Given the description of an element on the screen output the (x, y) to click on. 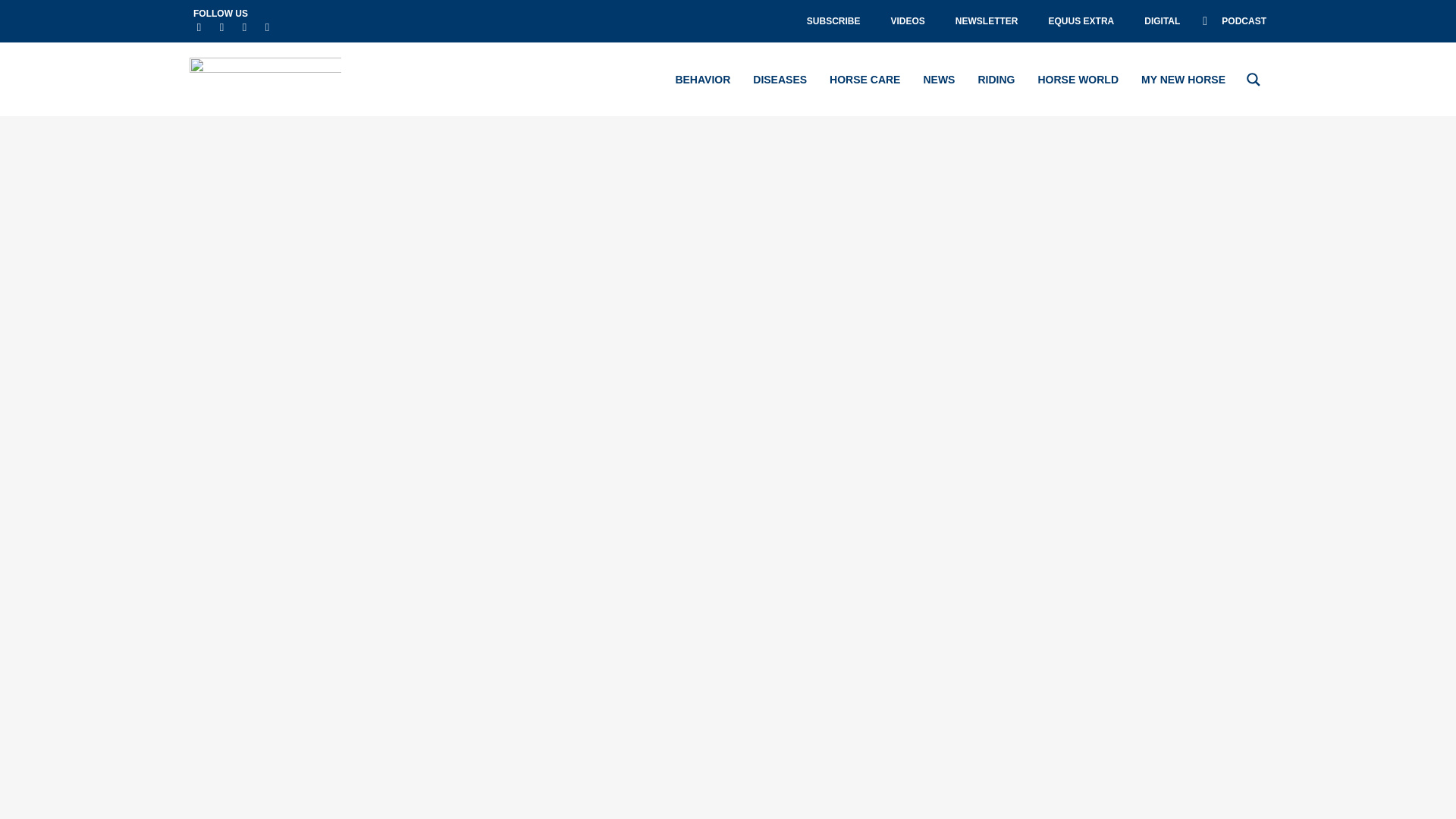
SUBSCRIBE (834, 21)
VIDEOS (907, 21)
PODCAST (1234, 20)
DISEASES (779, 79)
BEHAVIOR (702, 79)
NEWS (939, 79)
HORSE CARE (864, 79)
NEWSLETTER (986, 21)
EQUUS EXTRA (1081, 21)
DIGITAL (1162, 21)
